Given the description of an element on the screen output the (x, y) to click on. 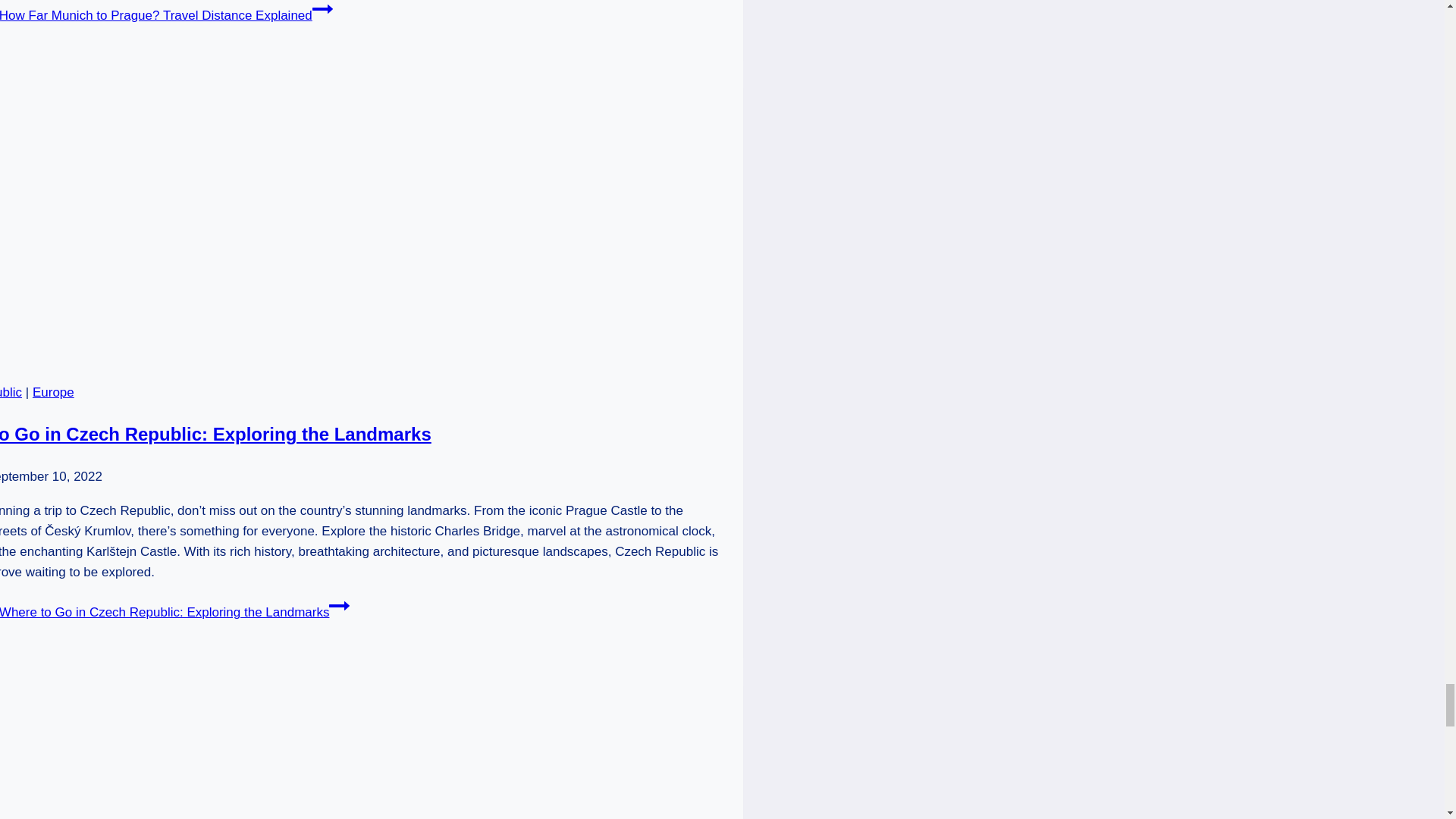
Continue (339, 605)
Continue (323, 9)
